Given the description of an element on the screen output the (x, y) to click on. 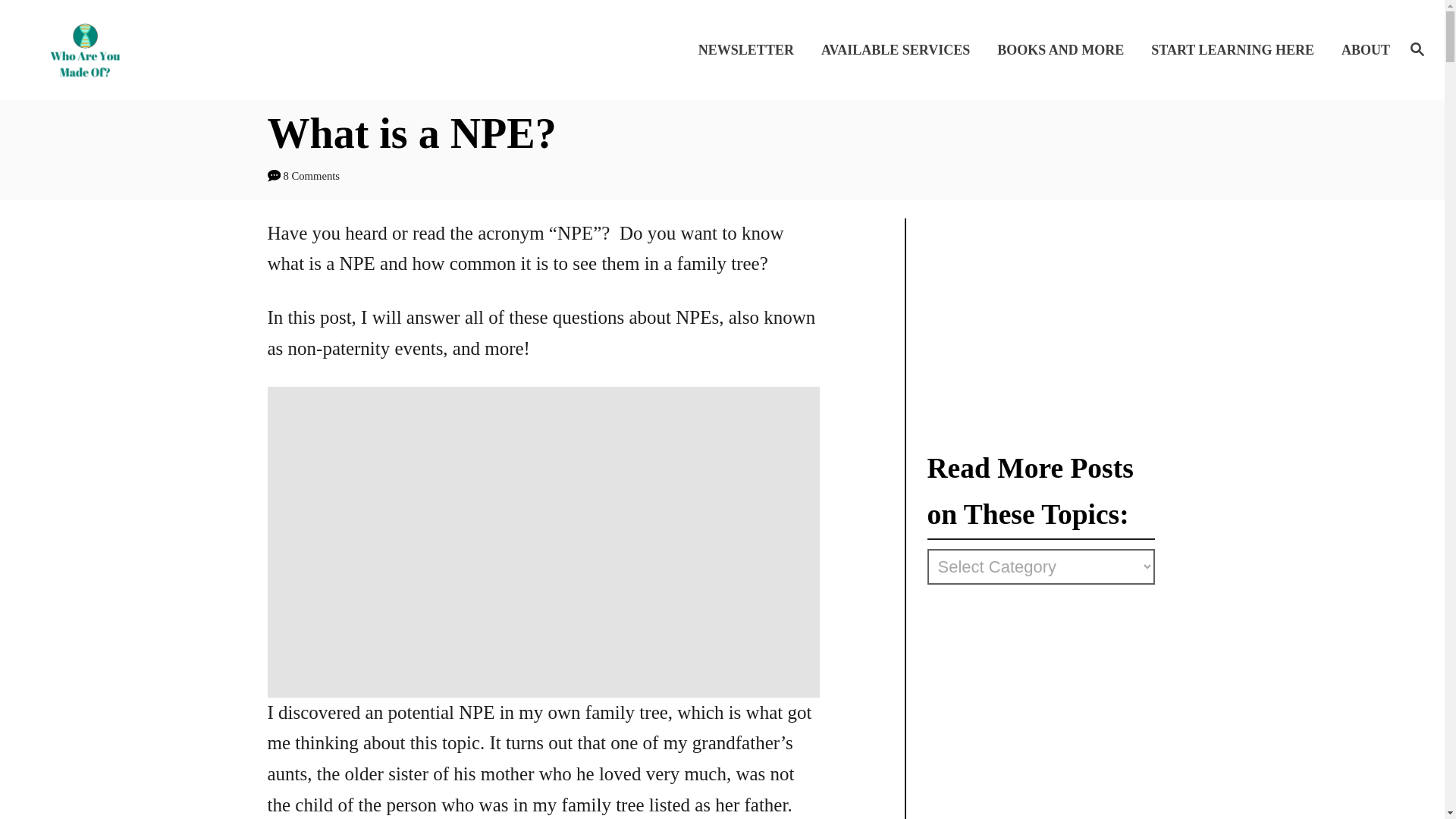
Magnifying Glass (1416, 48)
NEWSLETTER (750, 49)
START LEARNING HERE (1236, 49)
AVAILABLE SERVICES (900, 49)
BOOKS AND MORE (1064, 49)
Who are You Made Of? (204, 49)
